Given the description of an element on the screen output the (x, y) to click on. 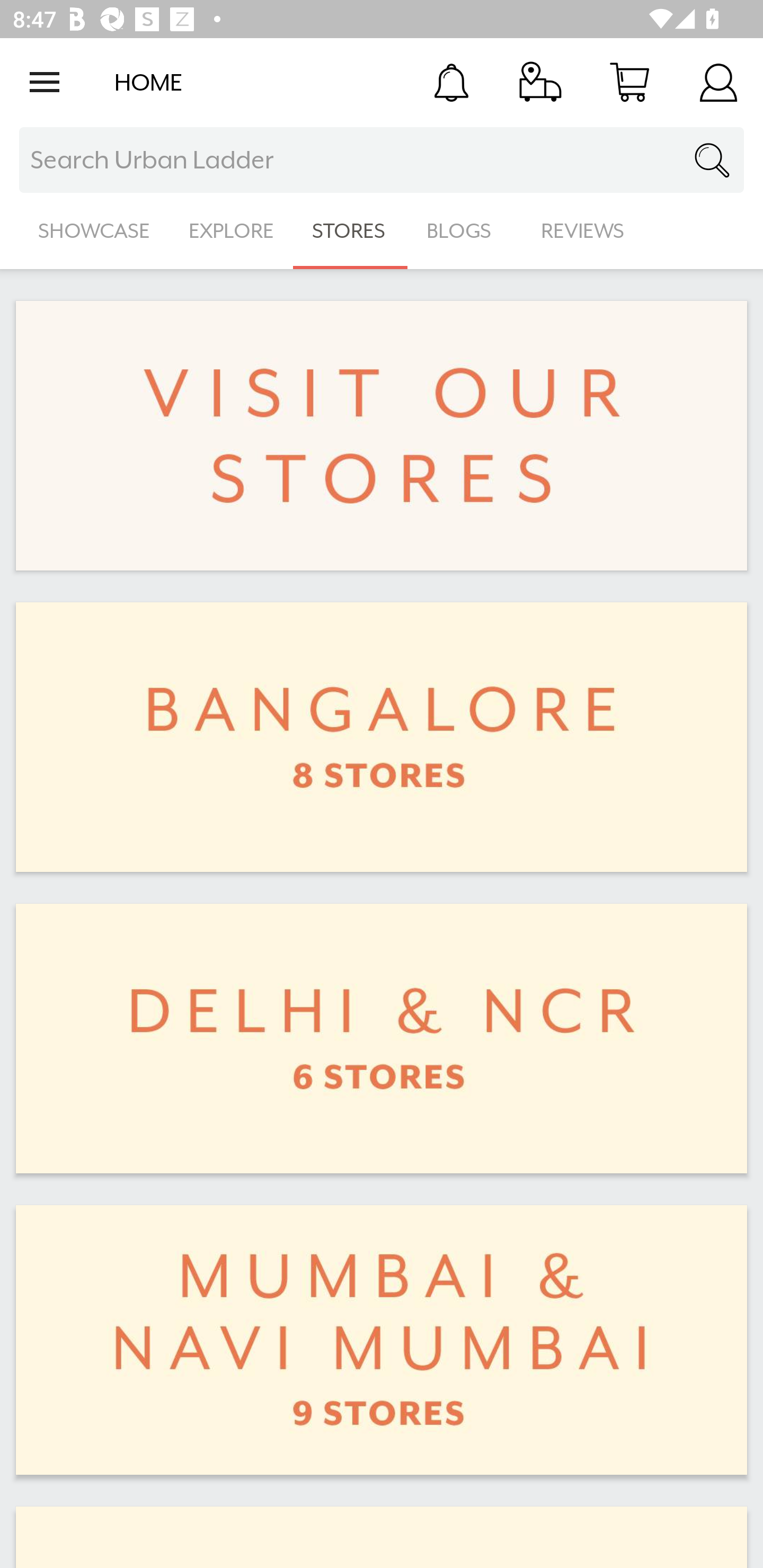
Open navigation drawer (44, 82)
Notification (450, 81)
Track Order (540, 81)
Cart (629, 81)
Account Details (718, 81)
Search Urban Ladder  (381, 159)
SHOWCASE (94, 230)
EXPLORE (230, 230)
STORES (349, 230)
BLOGS (464, 230)
REVIEWS (582, 230)
